Given the description of an element on the screen output the (x, y) to click on. 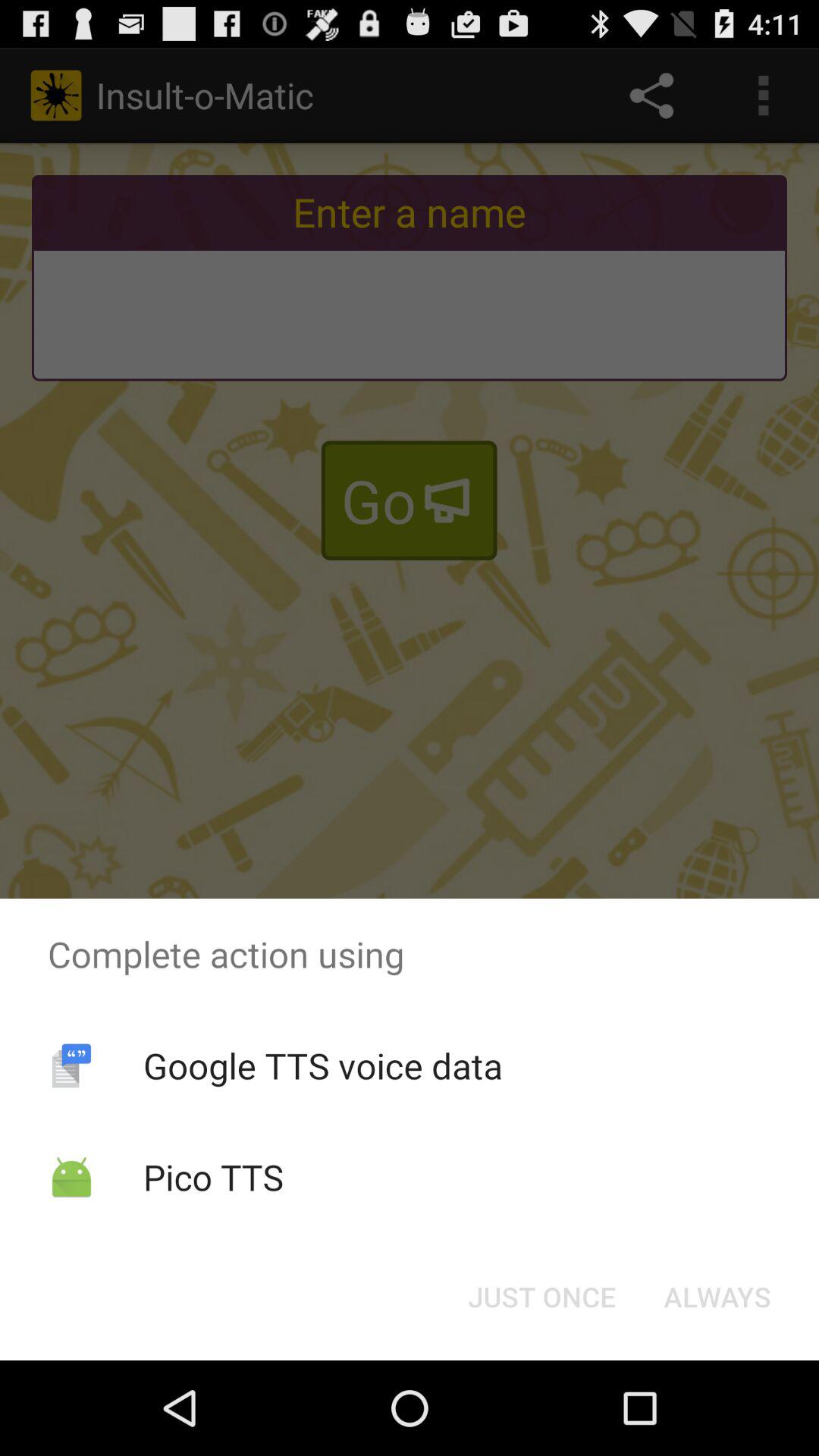
launch the item below google tts voice app (541, 1296)
